Given the description of an element on the screen output the (x, y) to click on. 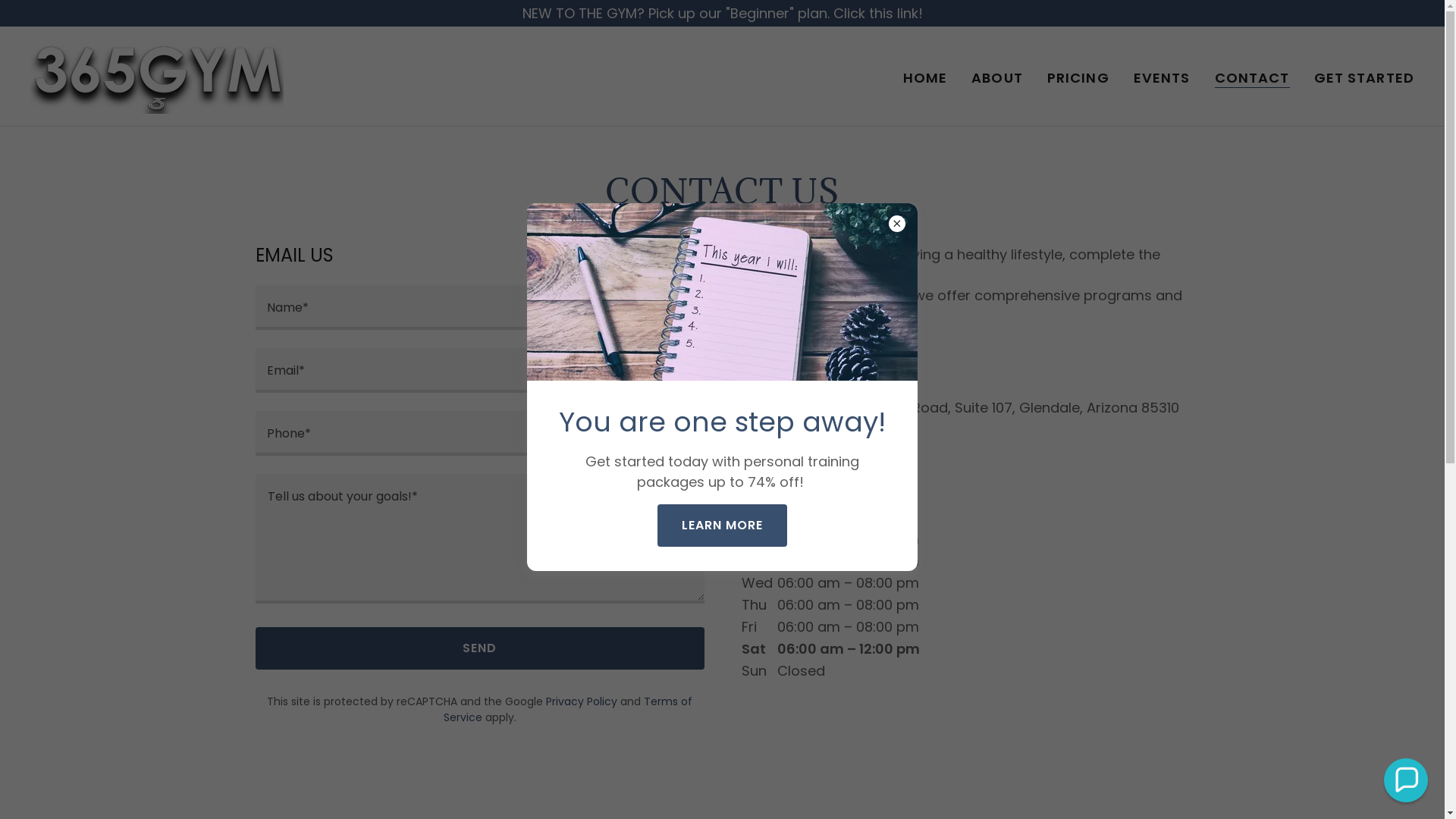
ABOUT Element type: text (996, 77)
PRICING Element type: text (1077, 77)
(602) 540-2121 Element type: text (790, 445)
HOME Element type: text (925, 77)
EVENTS Element type: text (1162, 77)
365 GYM  Element type: hover (156, 74)
SEND Element type: text (478, 648)
Privacy Policy Element type: text (581, 701)
Terms of Service Element type: text (567, 708)
CONTACT Element type: text (1251, 78)
GET STARTED Element type: text (1363, 77)
LEARN MORE Element type: text (722, 524)
